Given the description of an element on the screen output the (x, y) to click on. 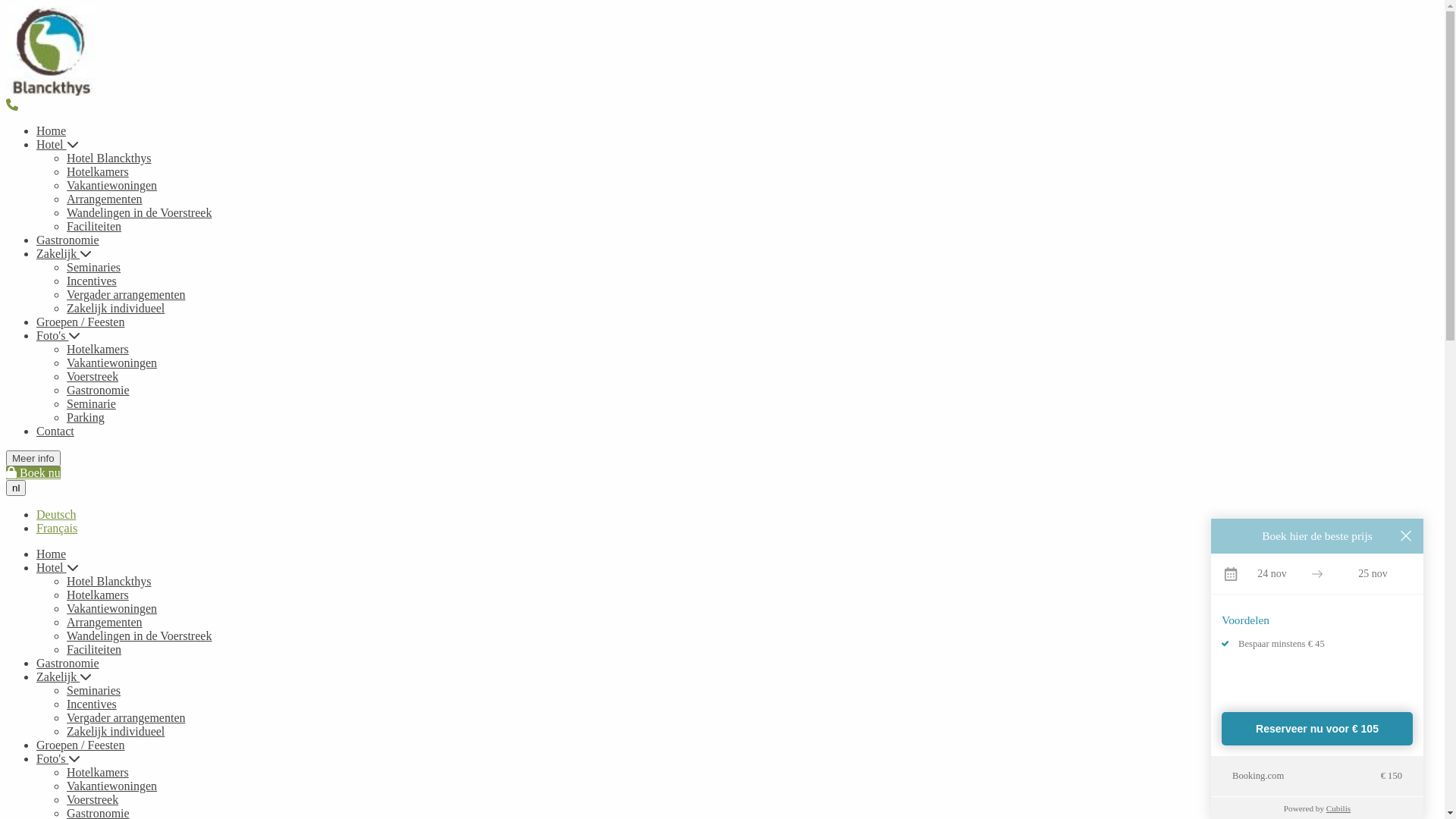
Voerstreek Element type: text (92, 376)
Hotel Blanckthys Element type: hover (50, 50)
Seminarie Element type: text (91, 403)
Gastronomie Element type: text (97, 389)
Zakelijk individueel Element type: text (115, 730)
Hotel Element type: text (57, 567)
Vakantiewoningen Element type: text (111, 785)
Hotelkamers Element type: text (97, 348)
nl Element type: text (15, 487)
Voerstreek Element type: text (92, 799)
Faciliteiten Element type: text (93, 649)
Meer info Element type: text (33, 458)
Incentives Element type: text (91, 280)
Zakelijk Element type: text (63, 253)
Cubilis Element type: text (1338, 807)
Groepen / Feesten Element type: text (80, 321)
Seminaries Element type: text (93, 266)
Wandelingen in de Voerstreek Element type: text (138, 212)
Foto's Element type: text (58, 335)
Vergader arrangementen Element type: text (125, 294)
Deutsch Element type: text (55, 514)
Arrangementen Element type: text (104, 621)
Boek nu Element type: text (33, 472)
Vakantiewoningen Element type: text (111, 184)
Hotelkamers Element type: text (97, 771)
Vakantiewoningen Element type: text (111, 608)
Groepen / Feesten Element type: text (80, 744)
Hotel Blanckthys Element type: text (108, 157)
Faciliteiten Element type: text (93, 225)
Wandelingen in de Voerstreek Element type: text (138, 635)
Home Element type: text (50, 553)
Vakantiewoningen Element type: text (111, 362)
Hotelkamers Element type: text (97, 171)
Foto's Element type: text (58, 758)
Home Element type: text (50, 130)
Arrangementen Element type: text (104, 198)
Contact Element type: text (55, 430)
Parking Element type: text (85, 417)
Gastronomie Element type: text (67, 239)
Zakelijk Element type: text (63, 676)
Seminaries Element type: text (93, 690)
Hotelkamers Element type: text (97, 594)
Hotel Element type: text (57, 144)
Gastronomie Element type: text (67, 662)
Vergader arrangementen Element type: text (125, 717)
Zakelijk individueel Element type: text (115, 307)
Incentives Element type: text (91, 703)
Hotel Blanckthys Element type: text (108, 580)
